Given the description of an element on the screen output the (x, y) to click on. 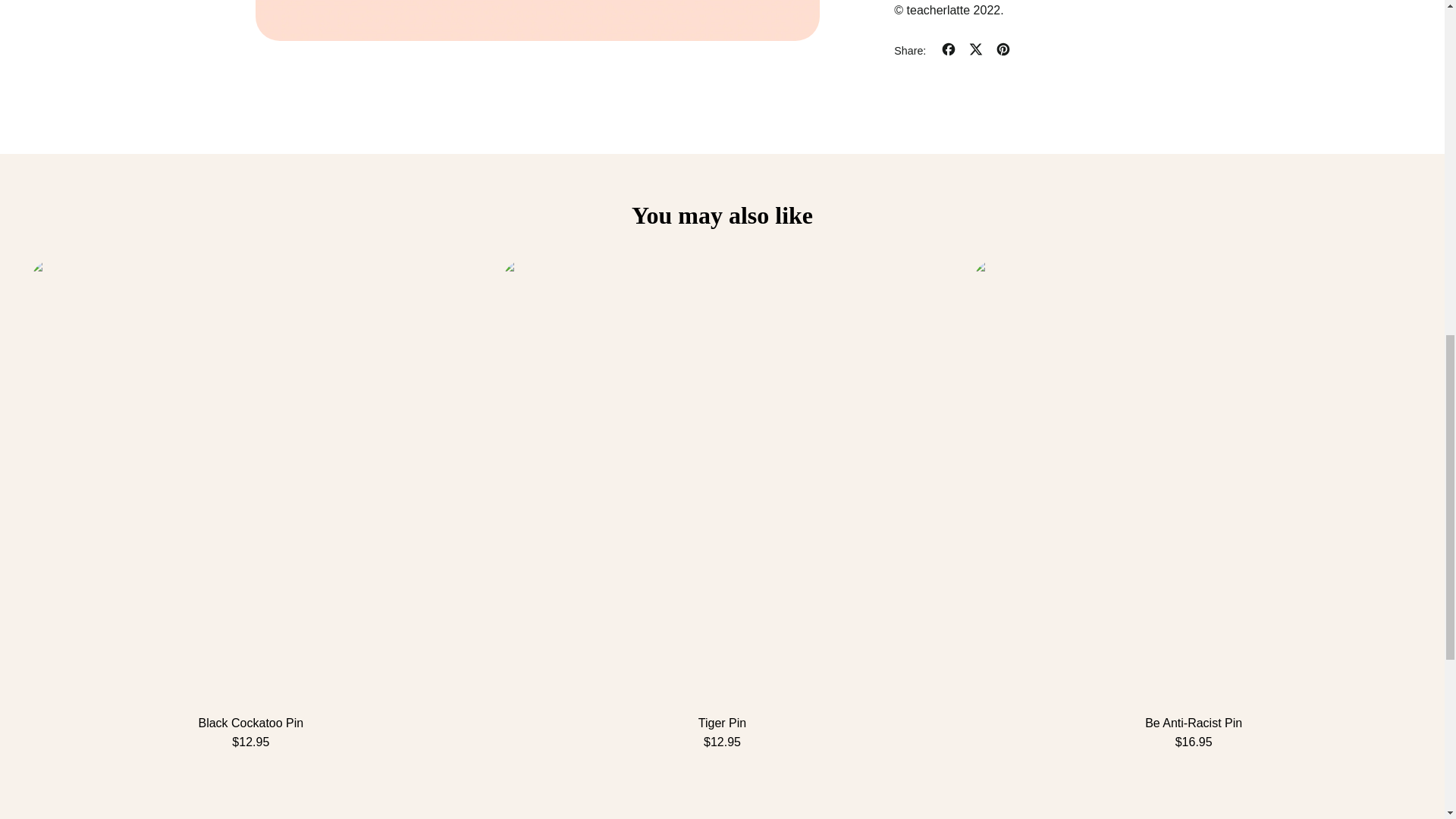
Share on Facebook (948, 51)
Pin on Pinterest (1003, 51)
